Given the description of an element on the screen output the (x, y) to click on. 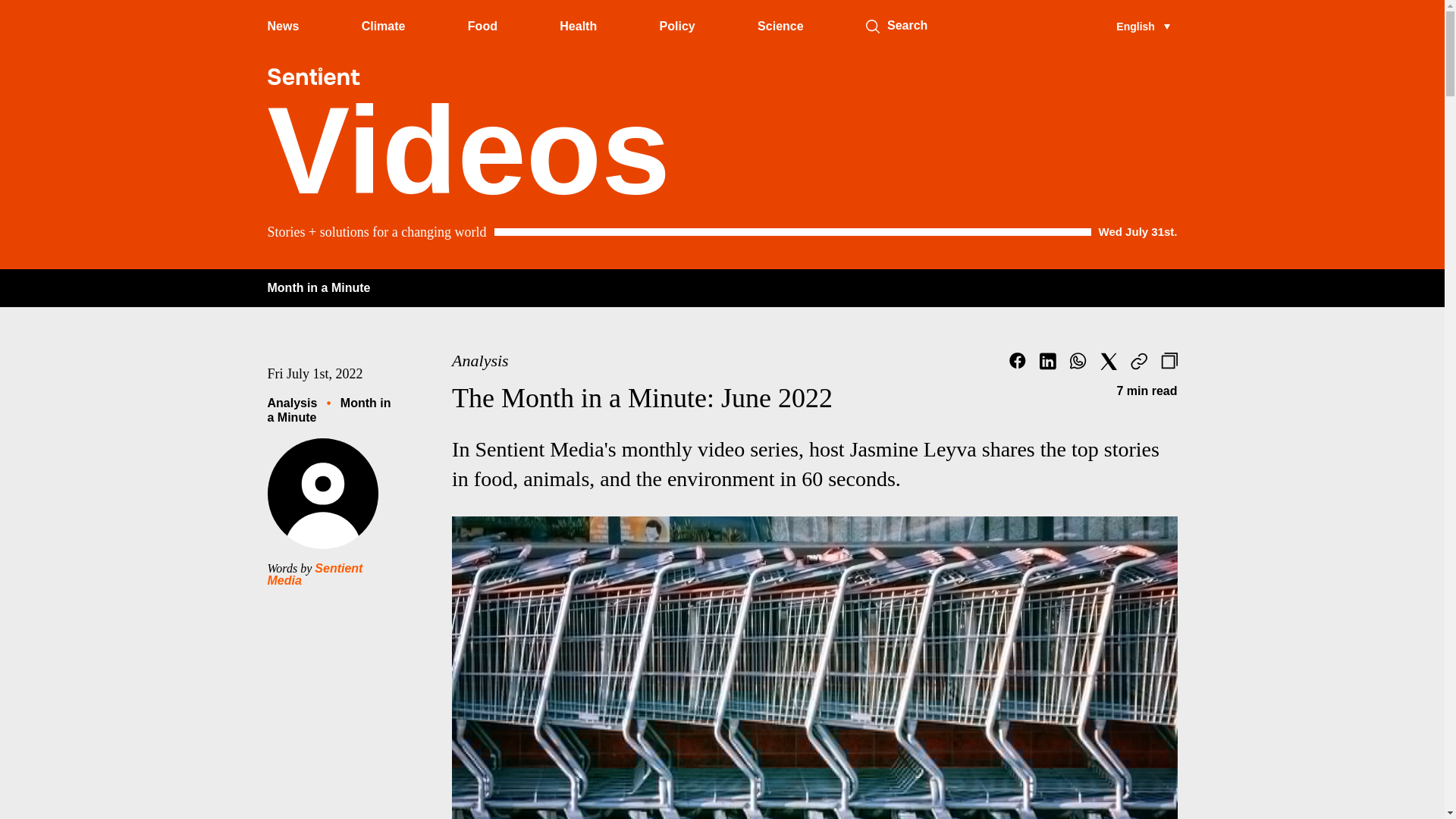
Climate (383, 25)
Search (872, 26)
Science (780, 25)
Month in a Minute (317, 287)
Food (482, 25)
Policy (677, 25)
News (282, 25)
English (1142, 26)
Health (577, 25)
